Given the description of an element on the screen output the (x, y) to click on. 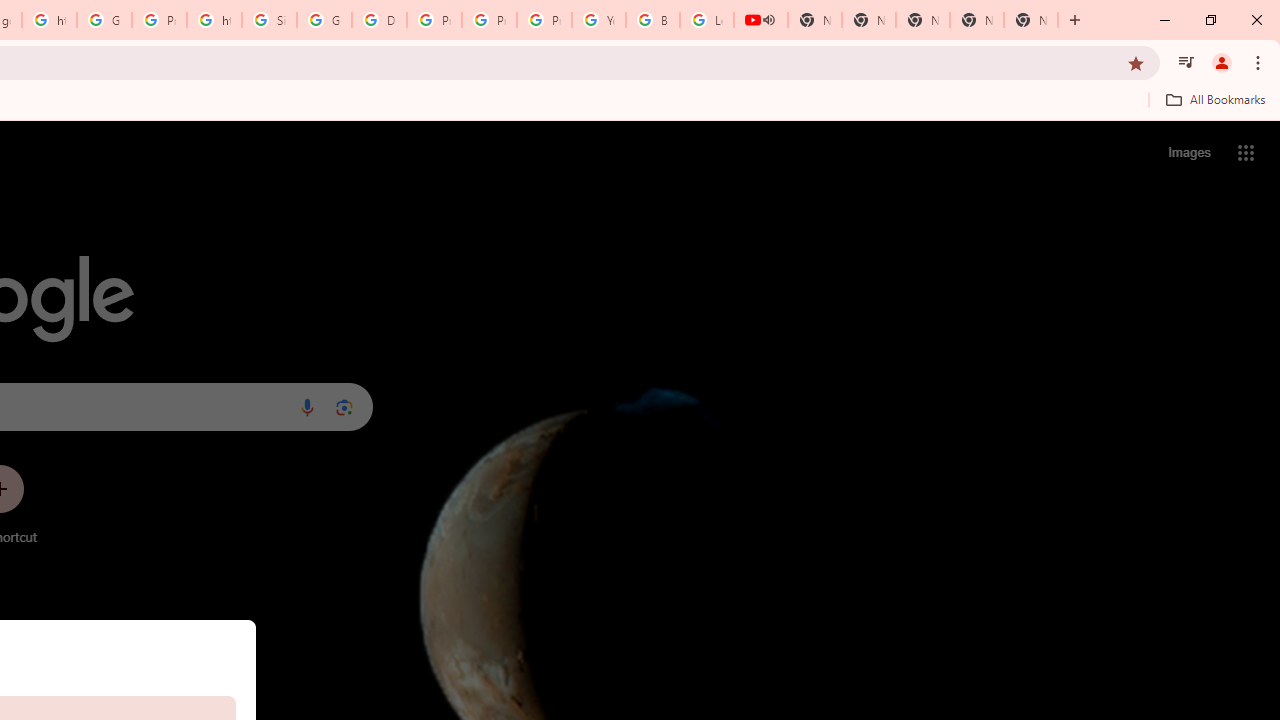
New Tab (1030, 20)
Privacy Help Center - Policies Help (489, 20)
https://scholar.google.com/ (48, 20)
https://scholar.google.com/ (213, 20)
Sign in - Google Accounts (268, 20)
Privacy Help Center - Policies Help (434, 20)
